Given the description of an element on the screen output the (x, y) to click on. 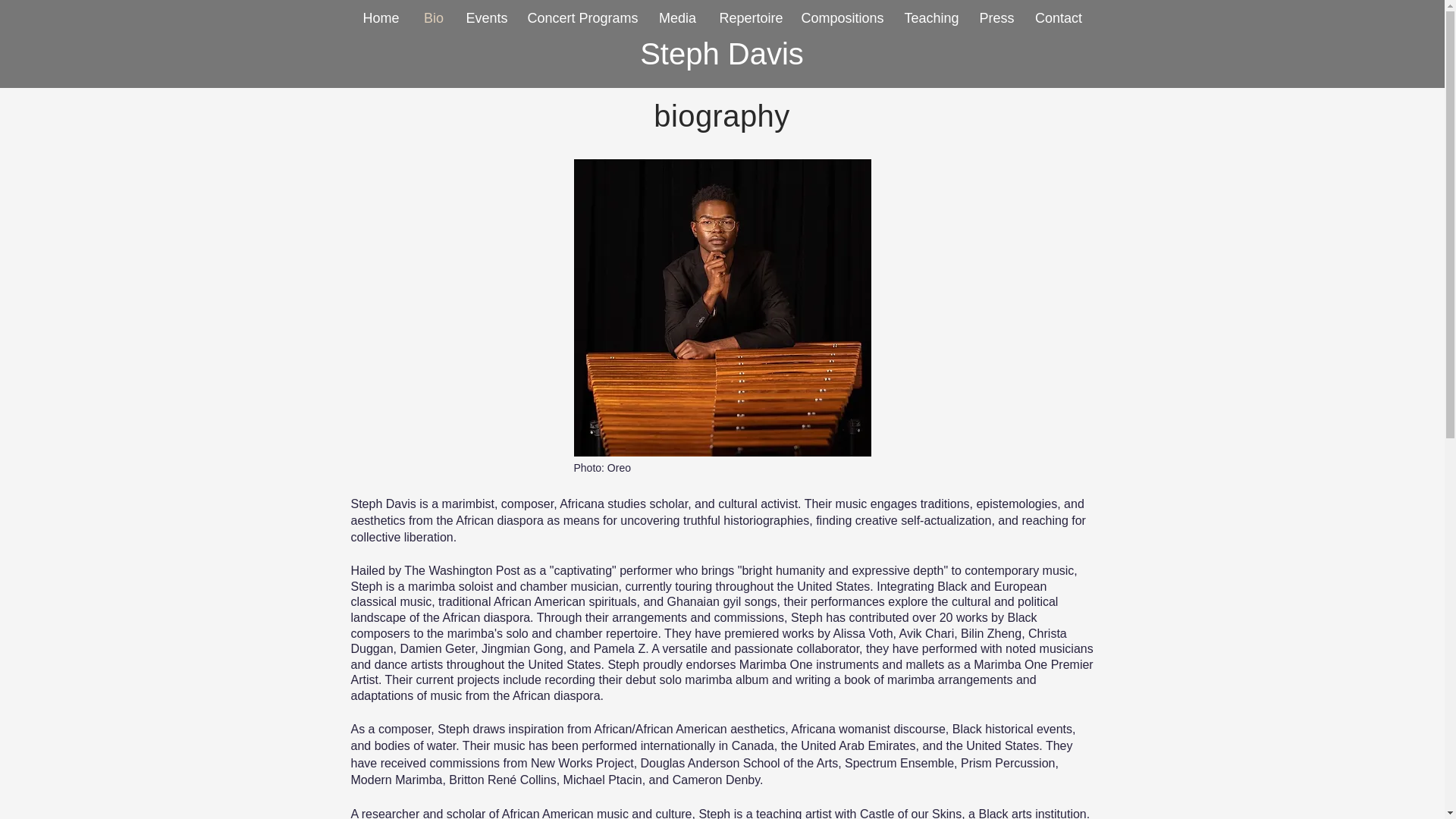
Events (487, 18)
Steph Davis (721, 53)
Contact (1058, 18)
Repertoire (751, 18)
Compositions (842, 18)
Bio (432, 18)
Concert Programs (580, 18)
Home (380, 18)
Media (678, 18)
Press (996, 18)
Teaching (931, 18)
